Given the description of an element on the screen output the (x, y) to click on. 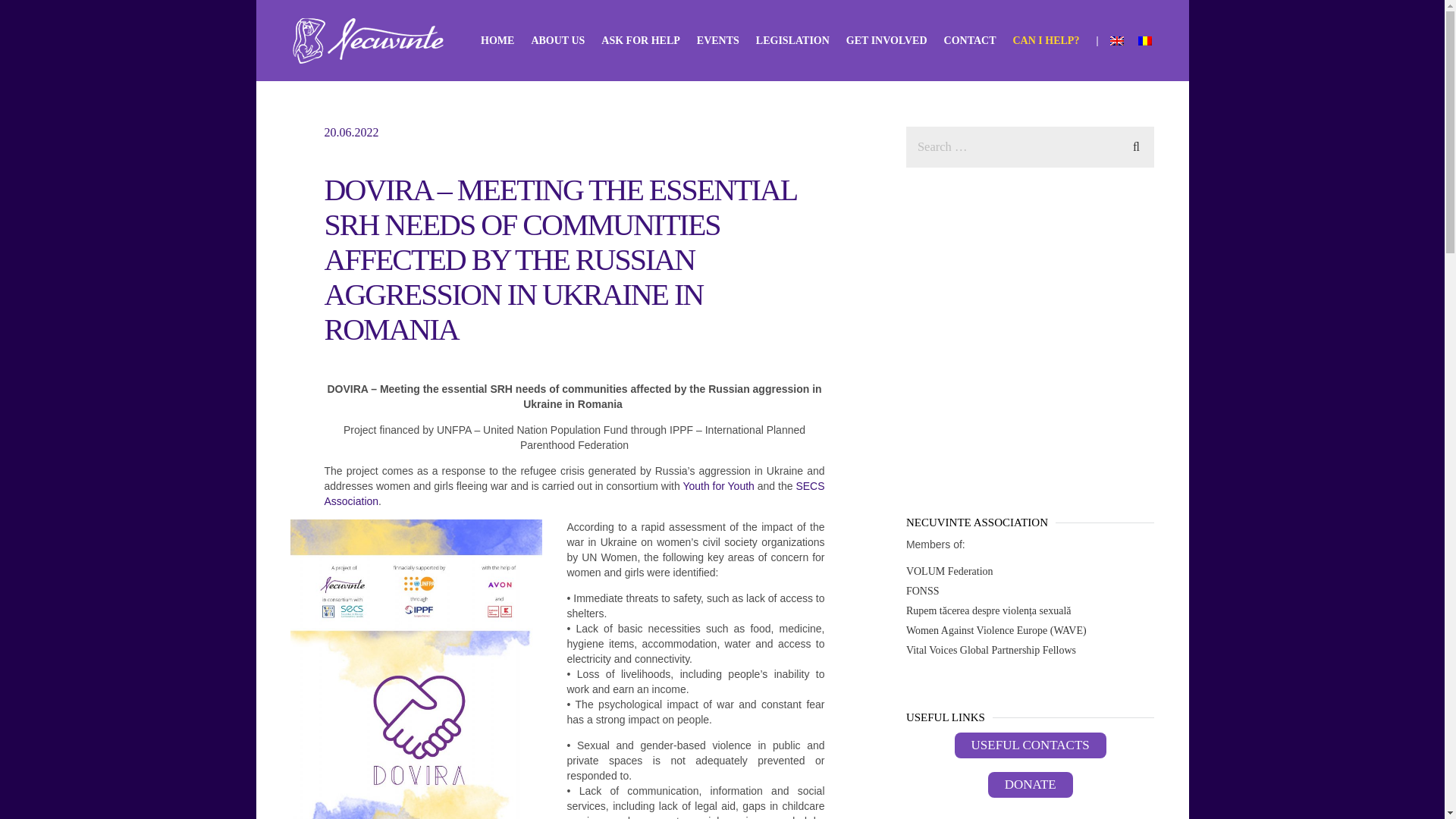
ASK FOR HELP (640, 39)
LEGISLATION (792, 39)
GET INVOLVED (886, 39)
EVENTS (718, 39)
HOME (496, 39)
CONTACT (969, 39)
Search (1136, 144)
English (1116, 40)
CAN I HELP? (1046, 39)
ABOUT US (558, 39)
